Given the description of an element on the screen output the (x, y) to click on. 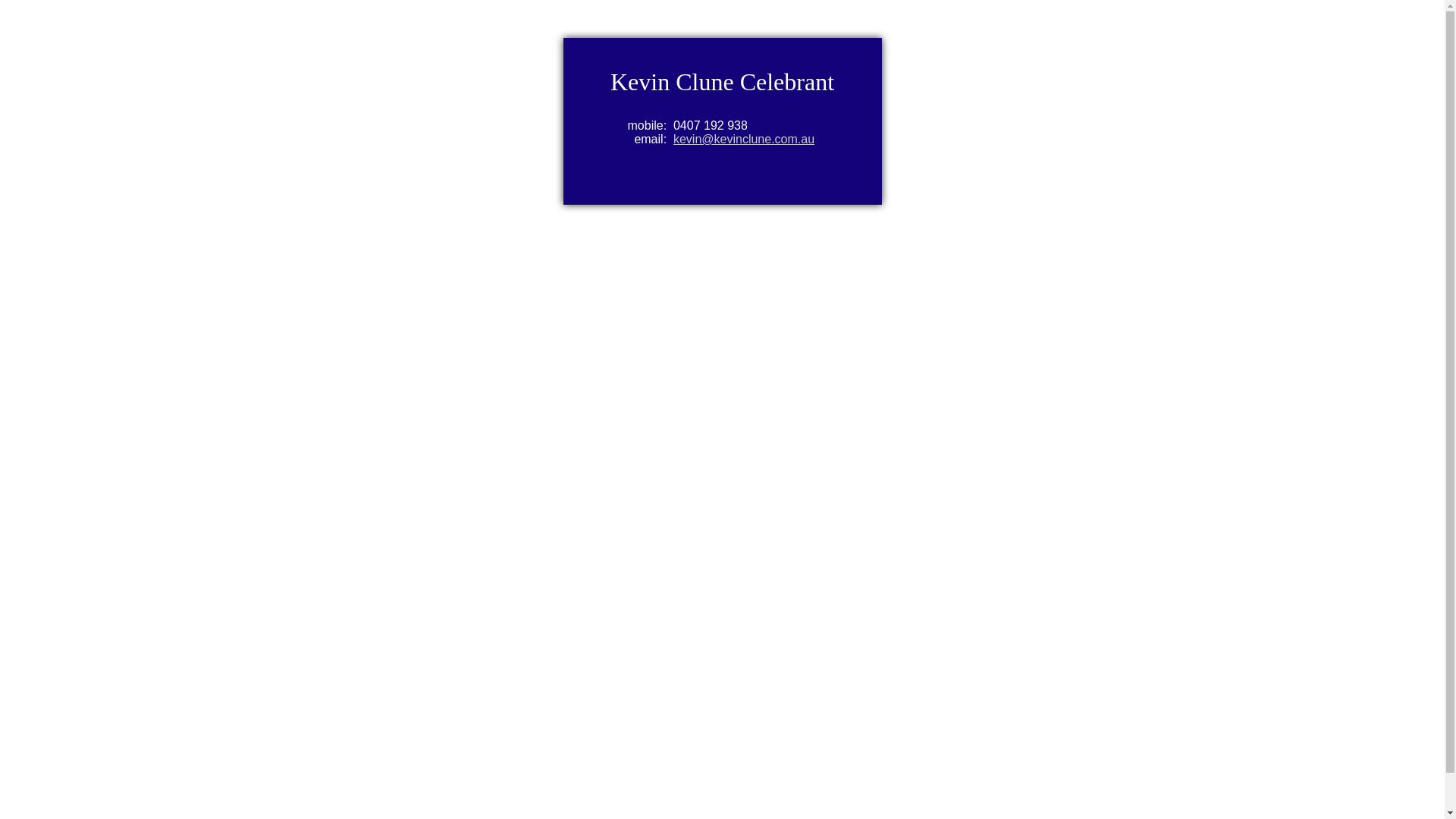
kevin@kevinclune.com.au Element type: text (743, 138)
